Given the description of an element on the screen output the (x, y) to click on. 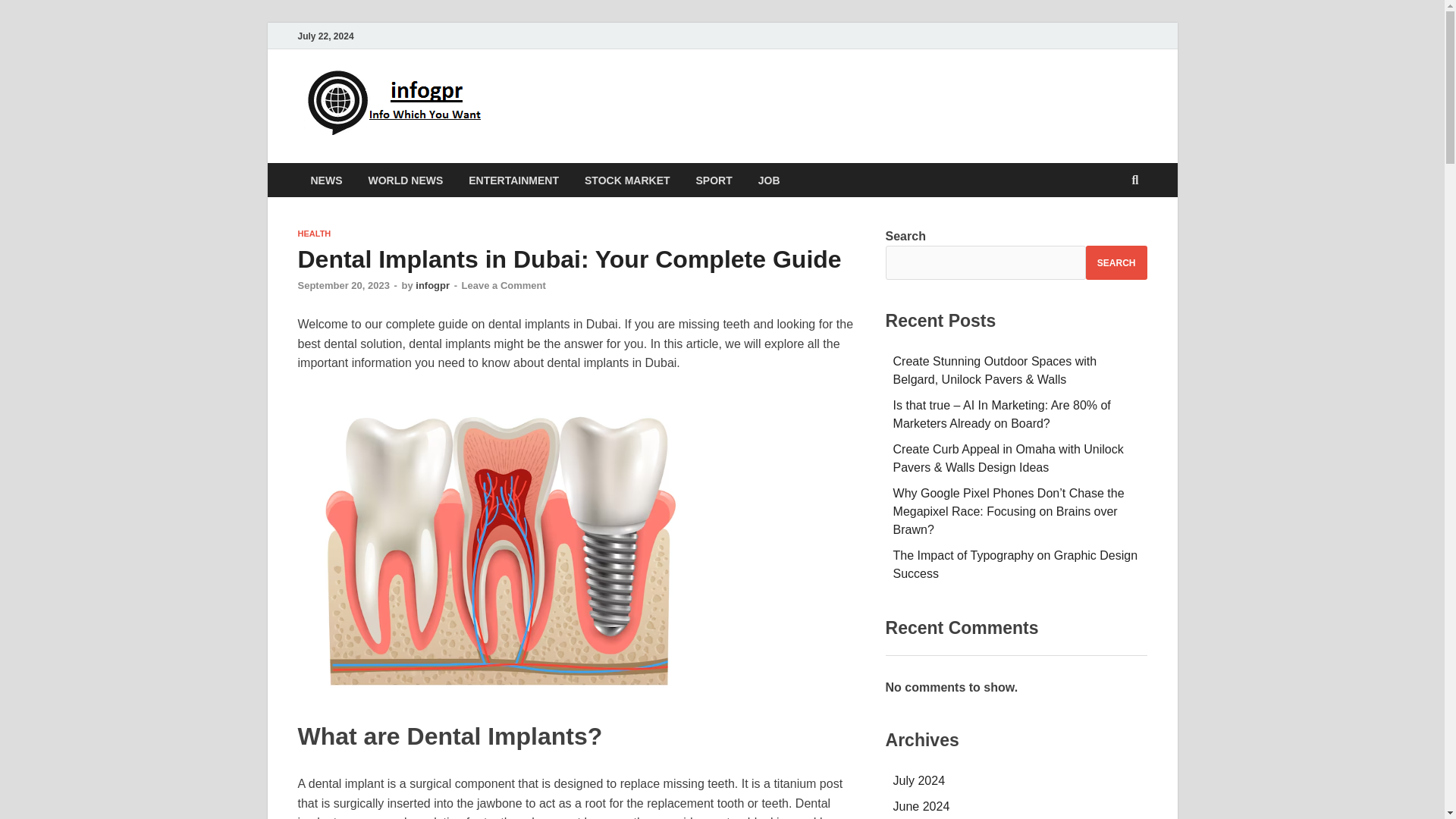
Infogpr (545, 100)
STOCK MARKET (627, 179)
NEWS (326, 179)
HEALTH (313, 233)
Leave a Comment (503, 285)
infogpr (431, 285)
JOB (769, 179)
SEARCH (1116, 262)
September 20, 2023 (342, 285)
WORLD NEWS (405, 179)
The Impact of Typography on Graphic Design Success (1015, 563)
ENTERTAINMENT (513, 179)
SPORT (713, 179)
